Given the description of an element on the screen output the (x, y) to click on. 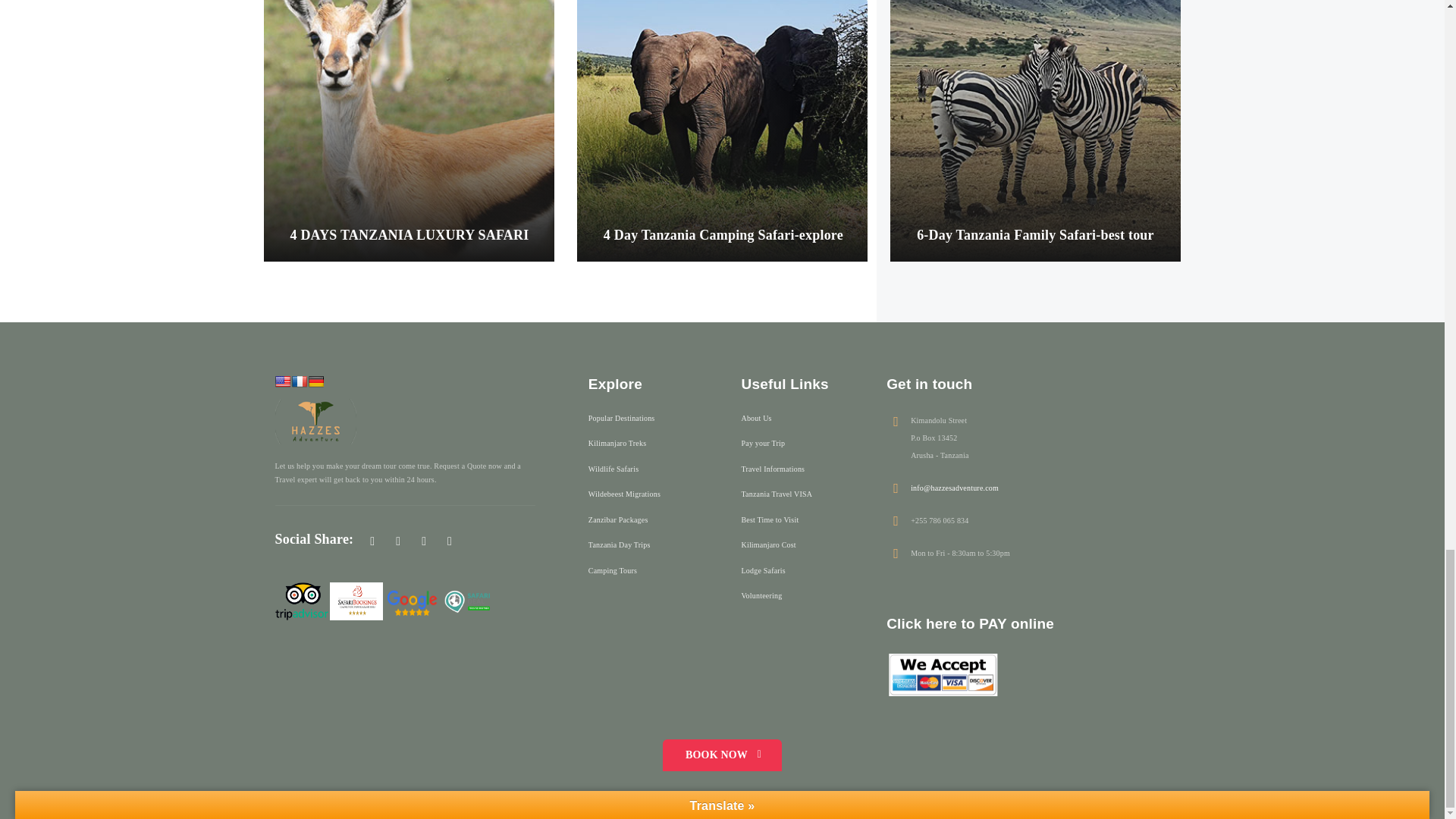
French (298, 381)
English (282, 381)
PAY ONLINE (943, 674)
German (315, 381)
